Given the description of an element on the screen output the (x, y) to click on. 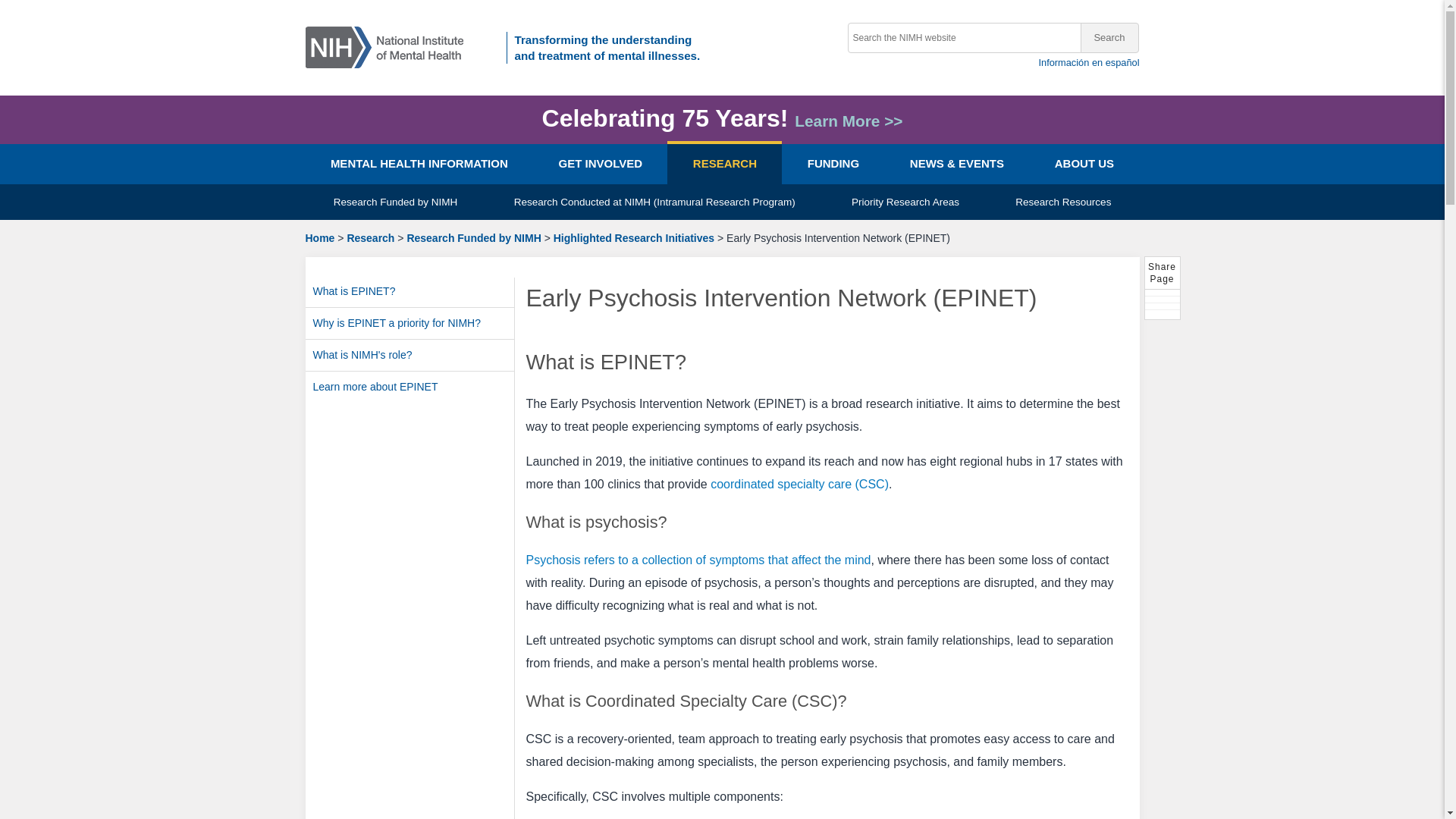
NIMH Home (389, 46)
GET INVOLVED (599, 164)
FUNDING (832, 164)
RESEARCH (723, 164)
MENTAL HEALTH INFORMATION (418, 164)
ABOUT US (1083, 164)
Search (1109, 37)
Search (1109, 37)
